Given the description of an element on the screen output the (x, y) to click on. 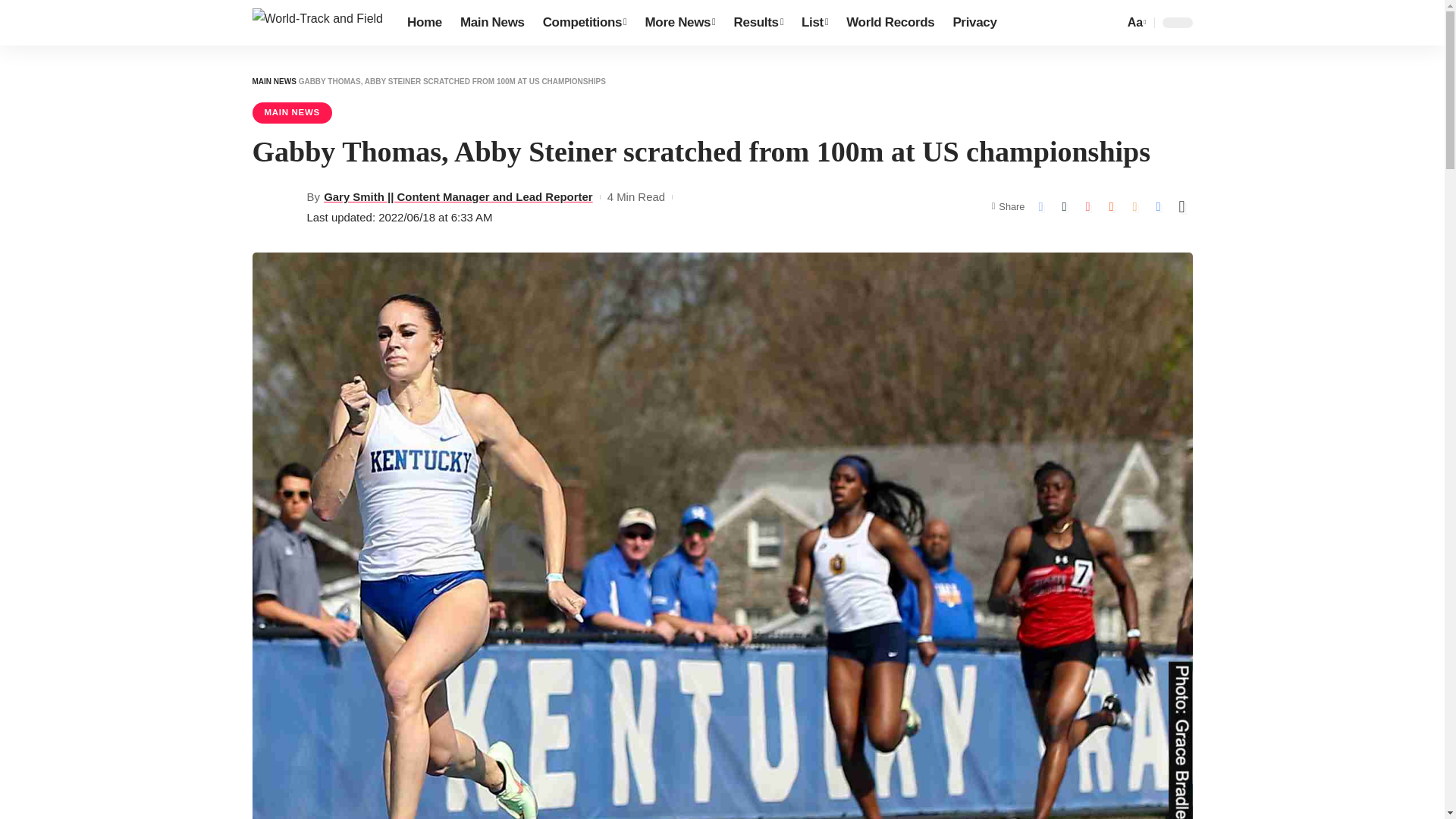
More News (680, 22)
World-Track and Field (316, 22)
List (814, 22)
World Records (890, 22)
Home (424, 22)
Results (758, 22)
Main News (492, 22)
Privacy (974, 22)
Competitions (585, 22)
